Given the description of an element on the screen output the (x, y) to click on. 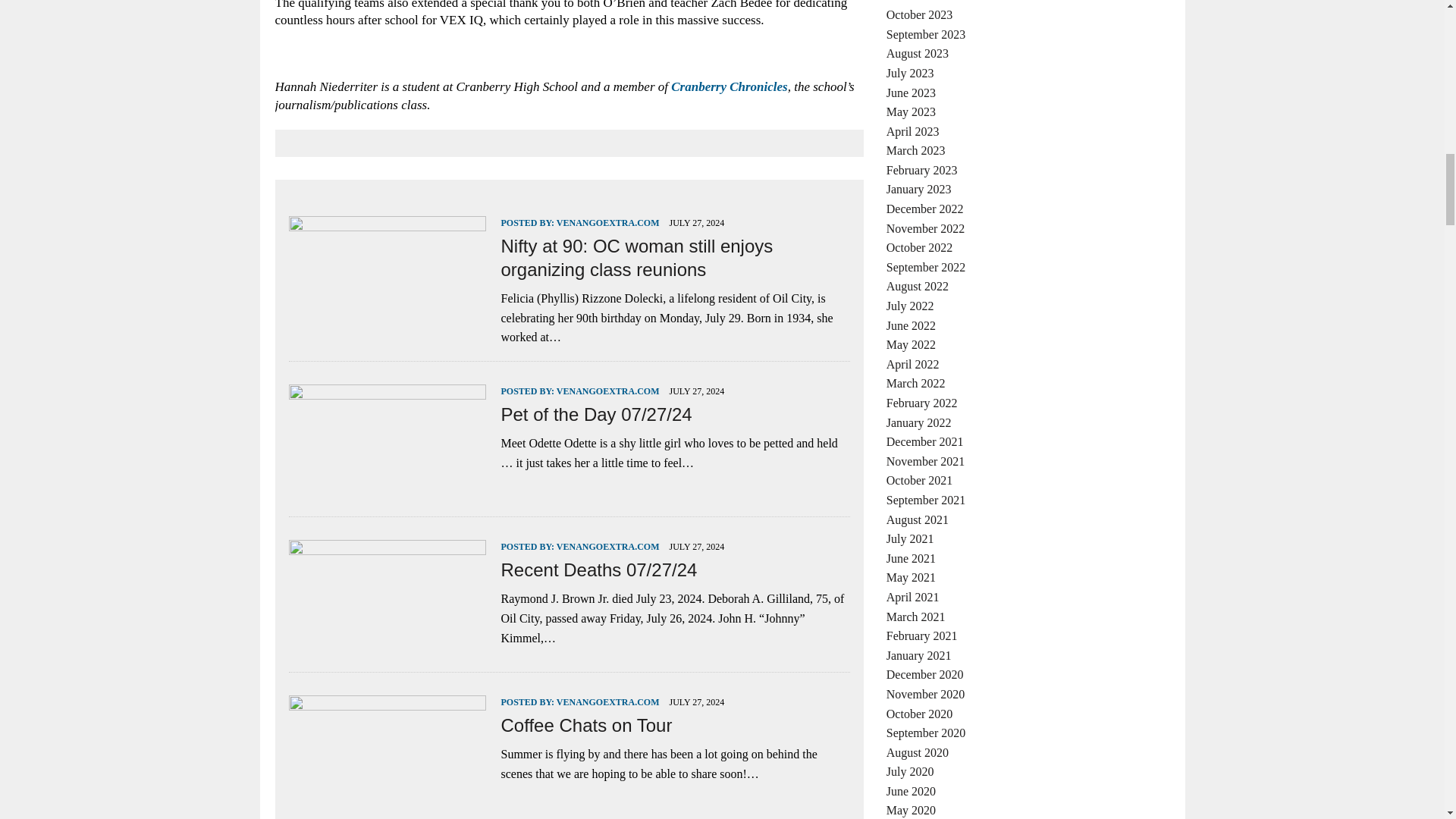
VENANGOEXTRA.COM (607, 222)
Nifty at 90: OC woman still enjoys organizing class reunions (386, 316)
Nifty at 90: OC woman still enjoys organizing class reunions (636, 257)
Coffee Chats on Tour (585, 724)
Coffee Chats on Tour (386, 795)
Cranberry Chronicles (729, 86)
Nifty at 90: OC woman still enjoys organizing class reunions (636, 257)
VENANGOEXTRA.COM (607, 390)
